Given the description of an element on the screen output the (x, y) to click on. 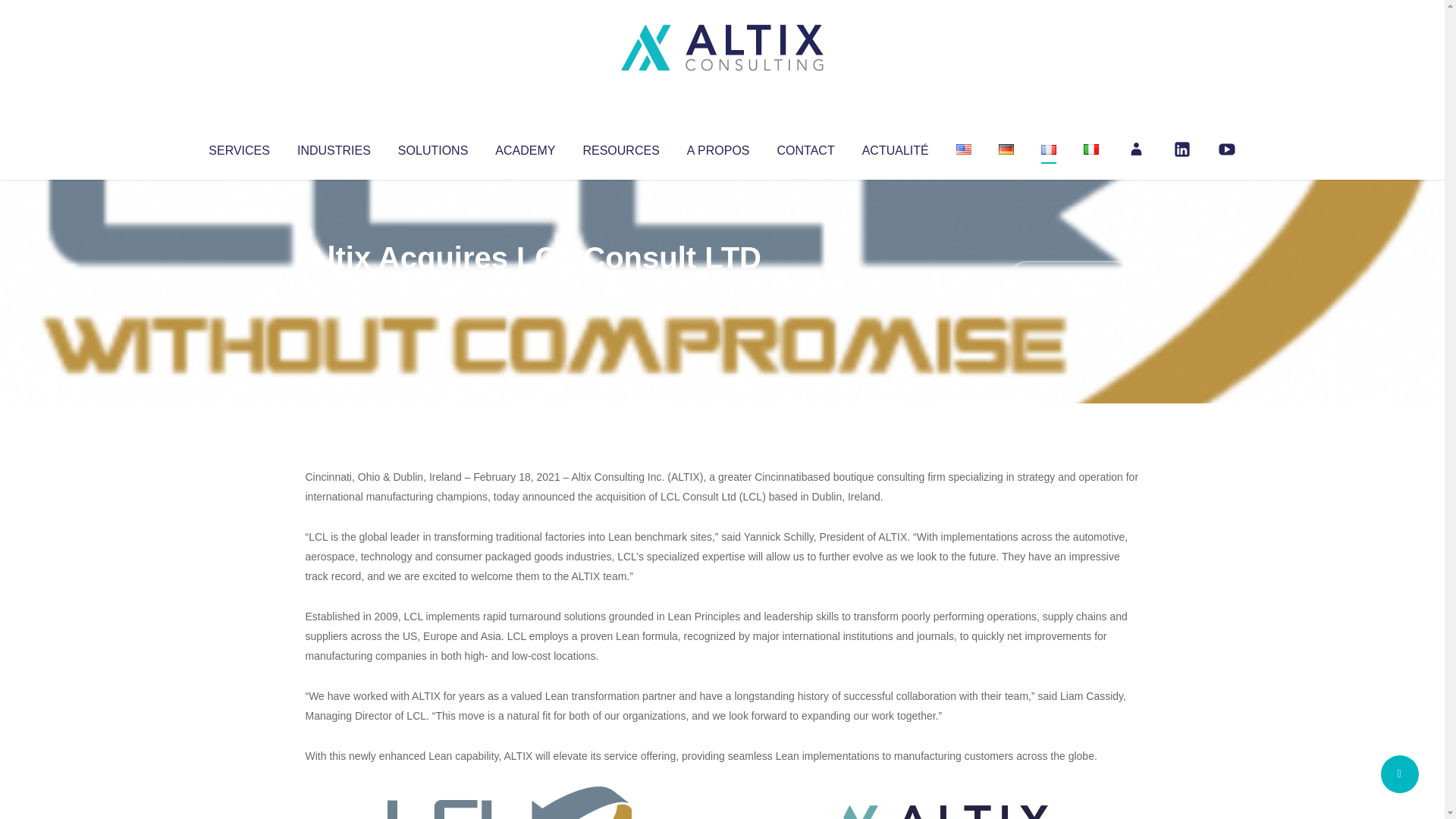
Uncategorized (530, 287)
A PROPOS (718, 146)
SOLUTIONS (432, 146)
RESOURCES (620, 146)
INDUSTRIES (334, 146)
SERVICES (238, 146)
ACADEMY (524, 146)
Articles par Altix (333, 287)
No Comments (1073, 278)
Altix (333, 287)
